Given the description of an element on the screen output the (x, y) to click on. 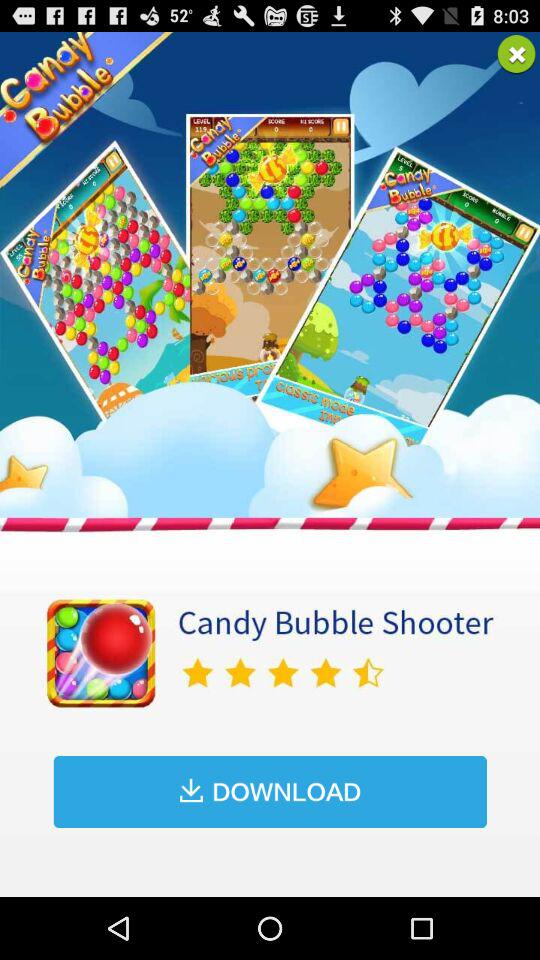
close advertisement (516, 54)
